Given the description of an element on the screen output the (x, y) to click on. 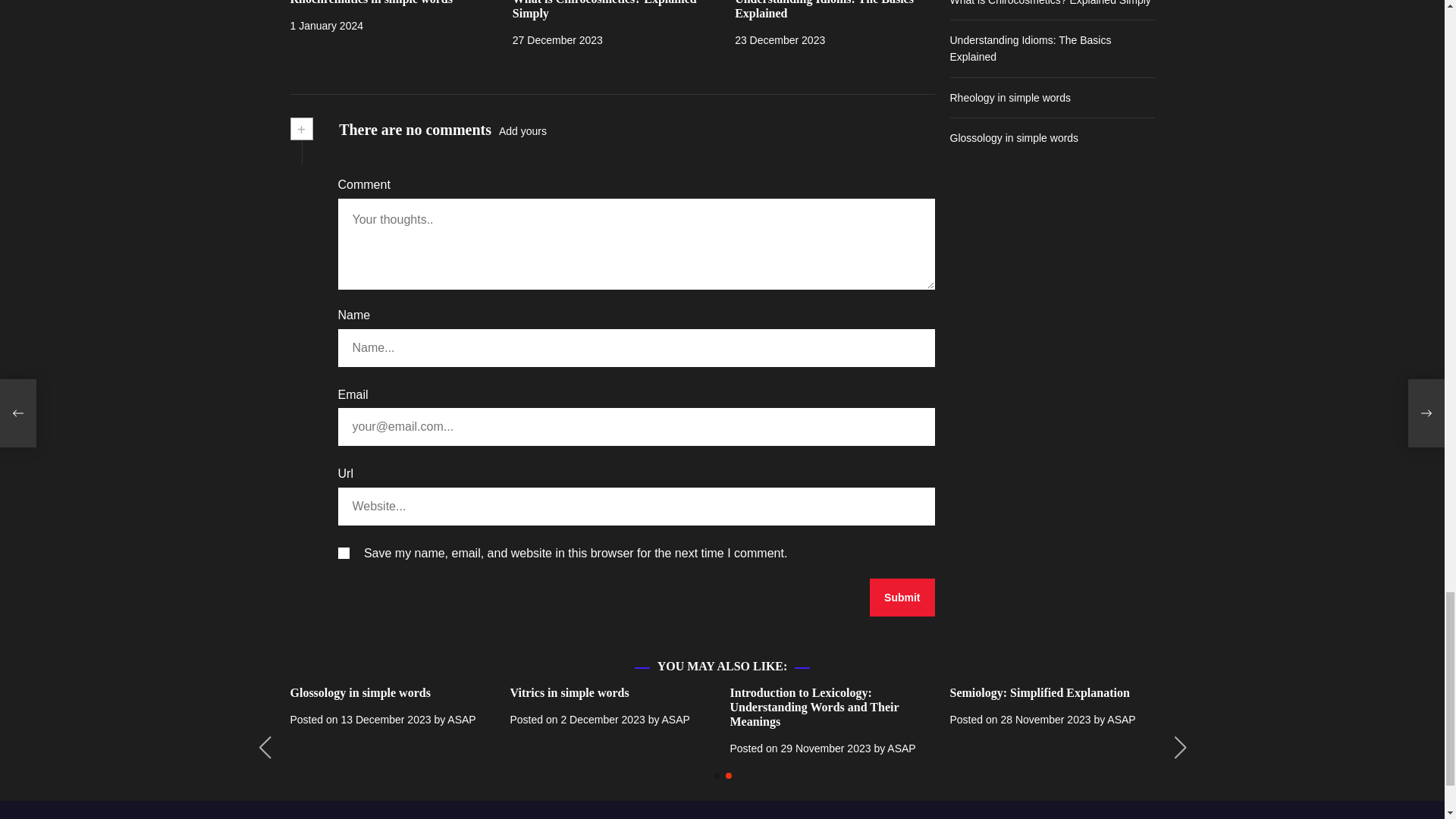
Rhochrematics in simple words (370, 2)
Submit (901, 597)
yes (343, 552)
